Given the description of an element on the screen output the (x, y) to click on. 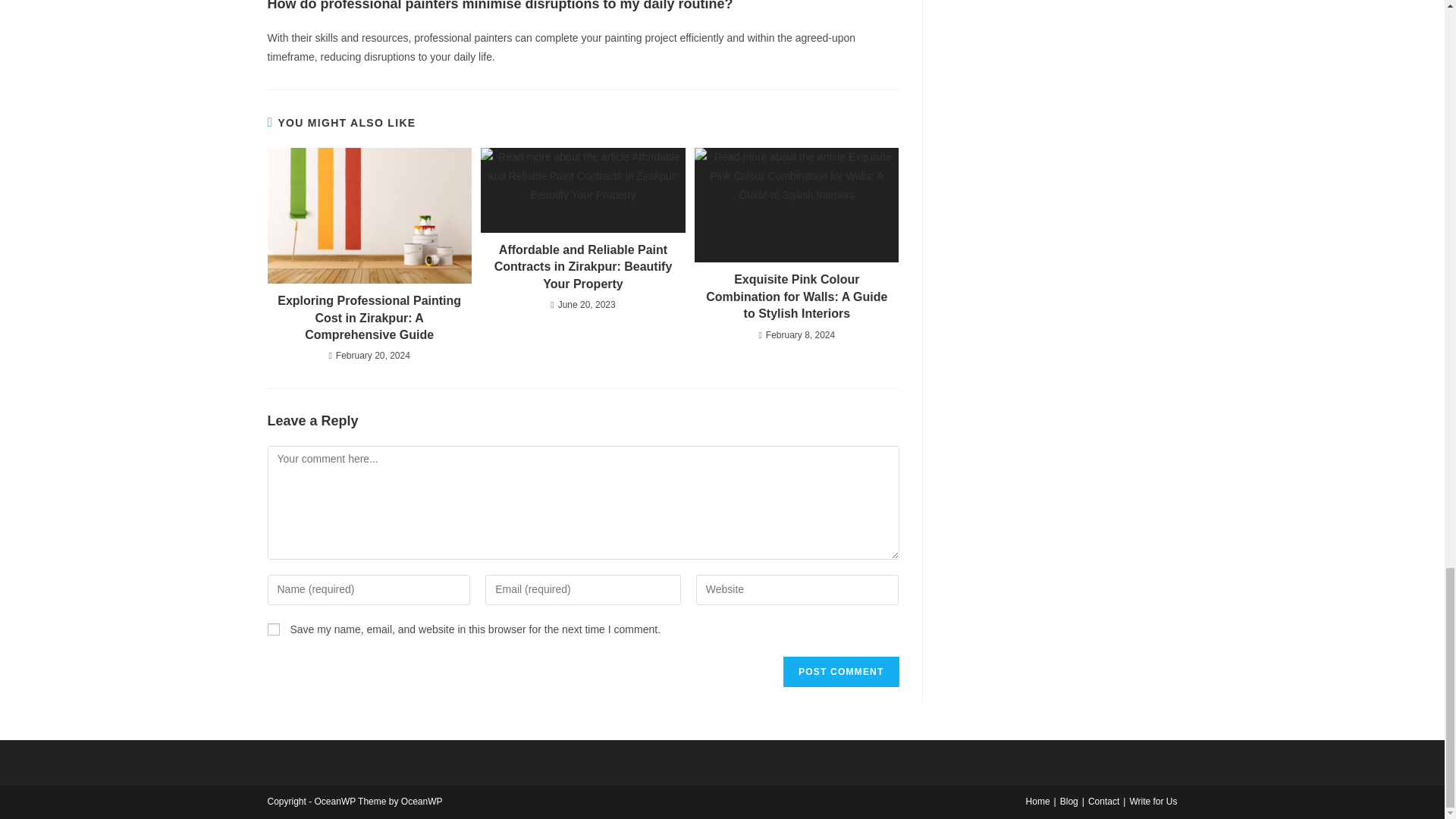
yes (272, 629)
Post Comment (840, 671)
